Given the description of an element on the screen output the (x, y) to click on. 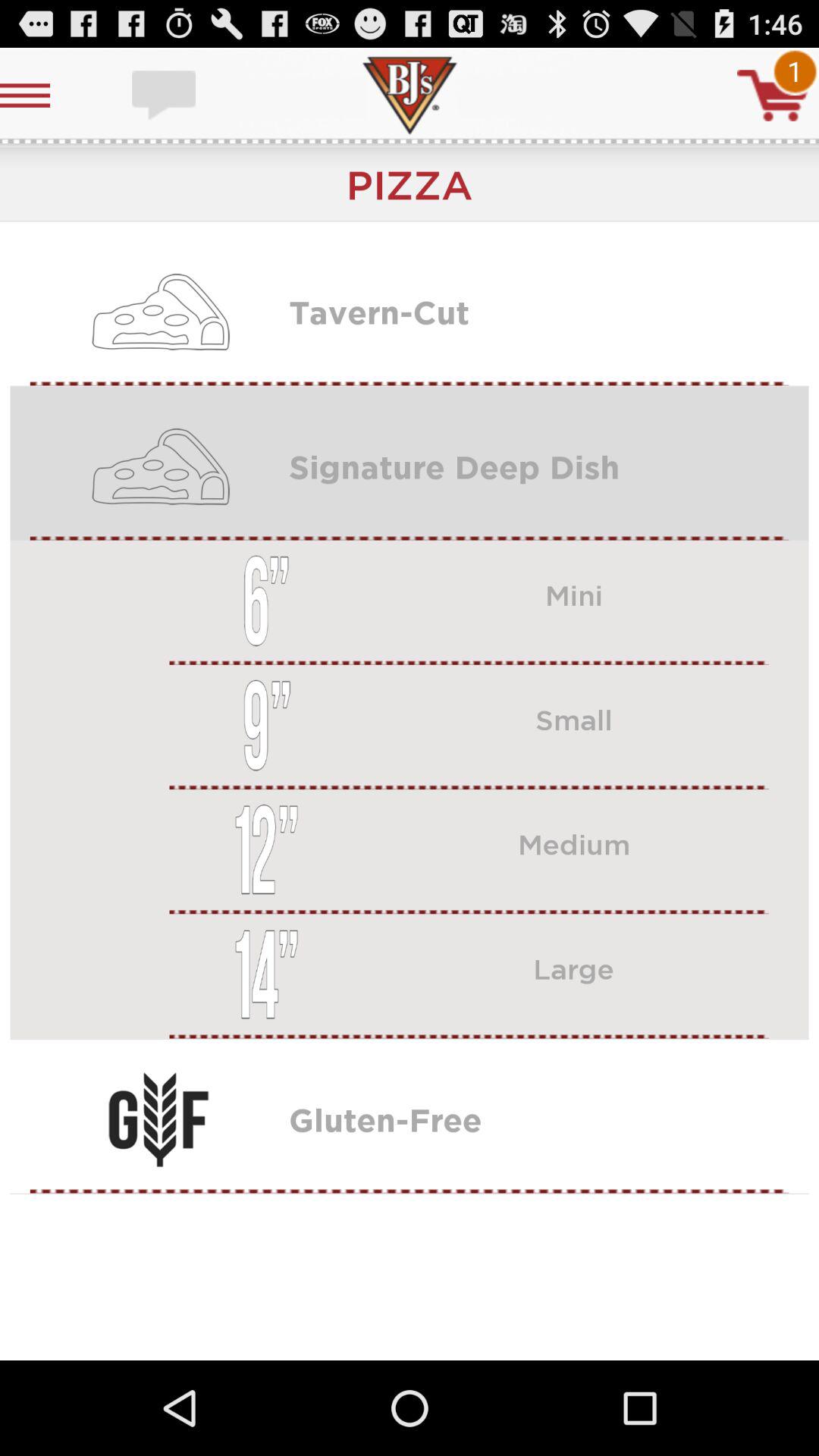
go to cart (772, 95)
